Given the description of an element on the screen output the (x, y) to click on. 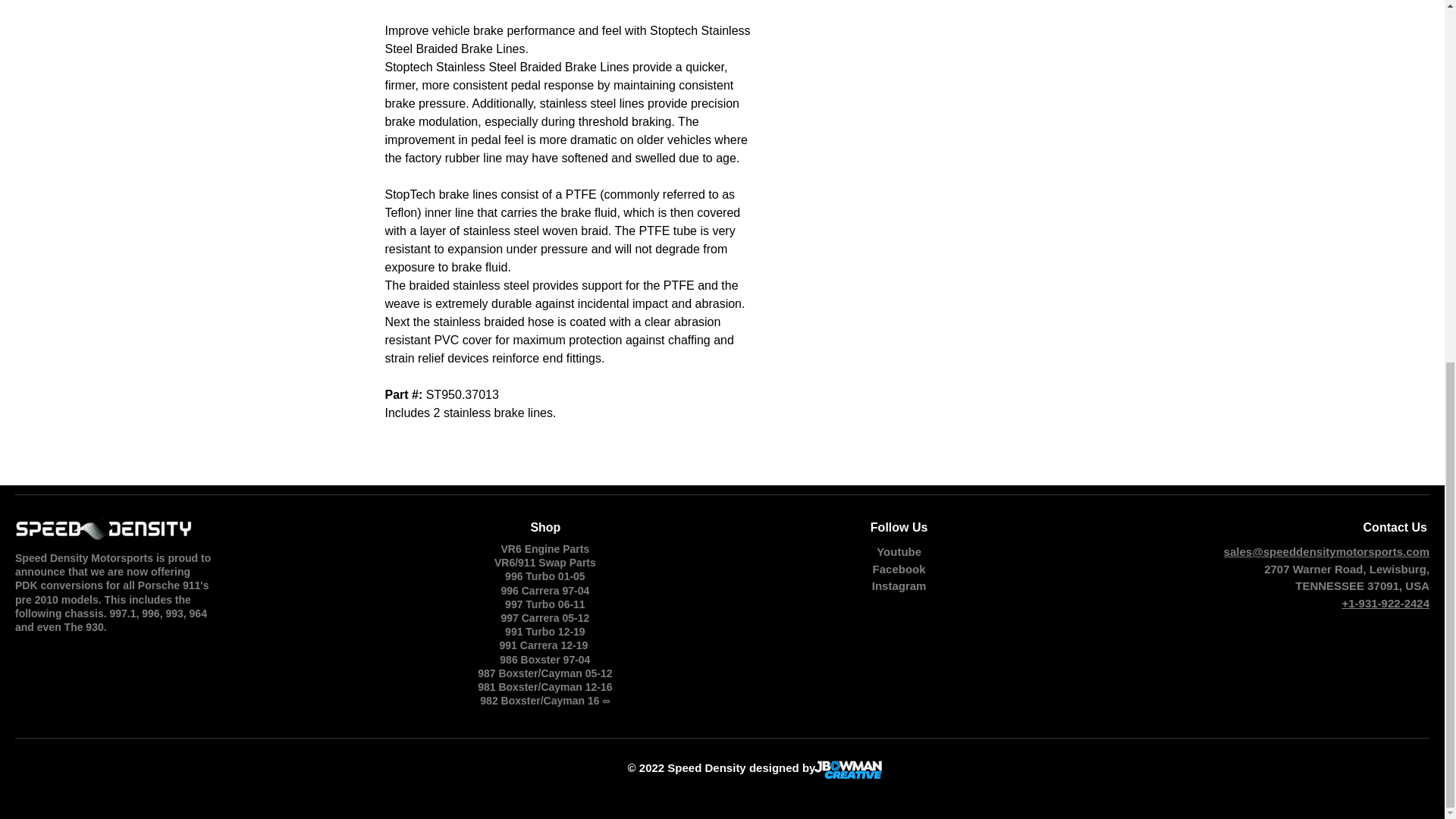
VR6 Engine Parts (544, 548)
Youtube (898, 551)
997 Turbo 06-11 (545, 604)
997 Carrera 05-12 (544, 617)
996 Carrera 97-04 (544, 590)
Facebook (899, 568)
996 Turbo 01-05 (545, 576)
986 Boxster 97-04 (544, 659)
991 Turbo 12-19 (545, 631)
991 Carrera 12-19  (545, 645)
